Given the description of an element on the screen output the (x, y) to click on. 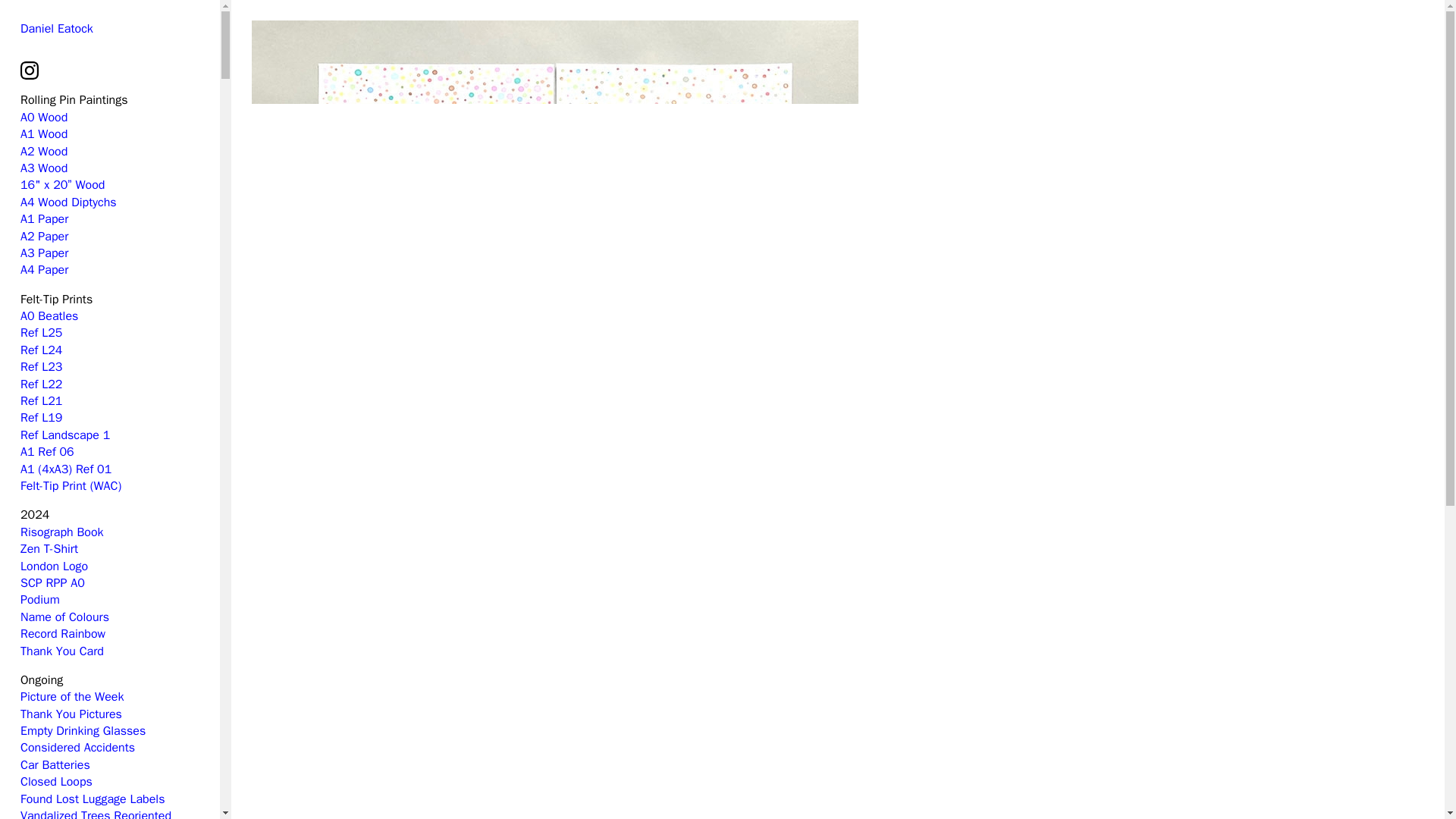
Empty Drinking Glasses (82, 730)
Instagram icon (29, 70)
Ref Landscape 1 (65, 435)
Closed Loops (56, 781)
Picture of the Week (71, 696)
A0 Beatles (49, 315)
Found Lost Luggage Labels (92, 798)
Risograph Book (61, 531)
A0 Wood (43, 117)
SCP RPP A0 (52, 582)
A1 Wood (43, 133)
Rolling Pin Paintings (74, 99)
A2 Wood (43, 151)
Instagram icon (29, 75)
Ref L19 (41, 417)
